Given the description of an element on the screen output the (x, y) to click on. 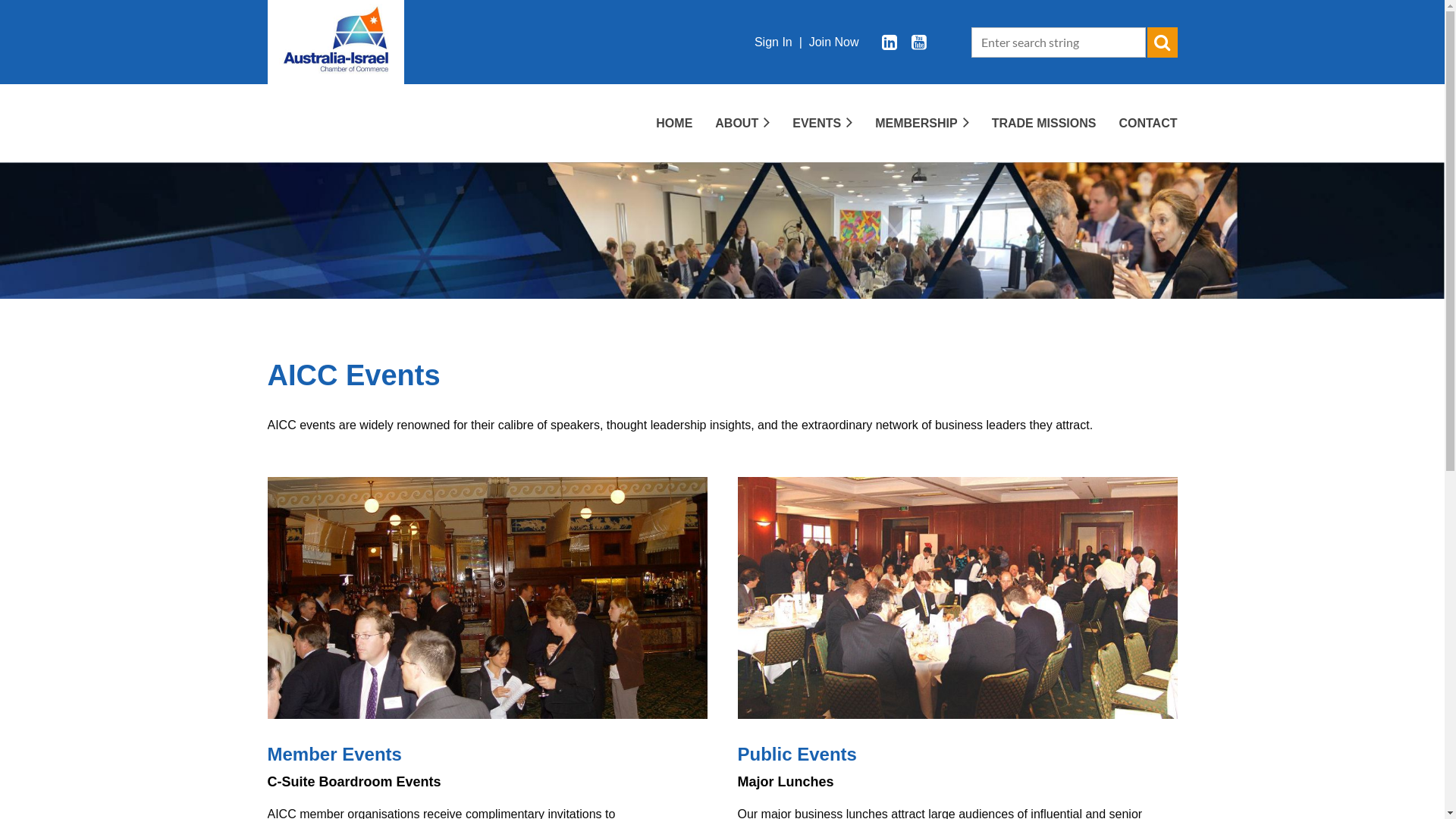
YouTube Element type: hover (918, 41)
ABOUT Element type: text (730, 123)
MEMBERSHIP Element type: text (910, 123)
Join Now Element type: text (834, 40)
CONTACT Element type: text (1135, 123)
EVENTS Element type: text (810, 123)
Search Element type: text (1161, 42)
HOME Element type: text (662, 123)
TRADE MISSIONS Element type: text (1032, 123)
LinkedIn Element type: hover (889, 41)
Sign In Element type: text (773, 40)
